Given the description of an element on the screen output the (x, y) to click on. 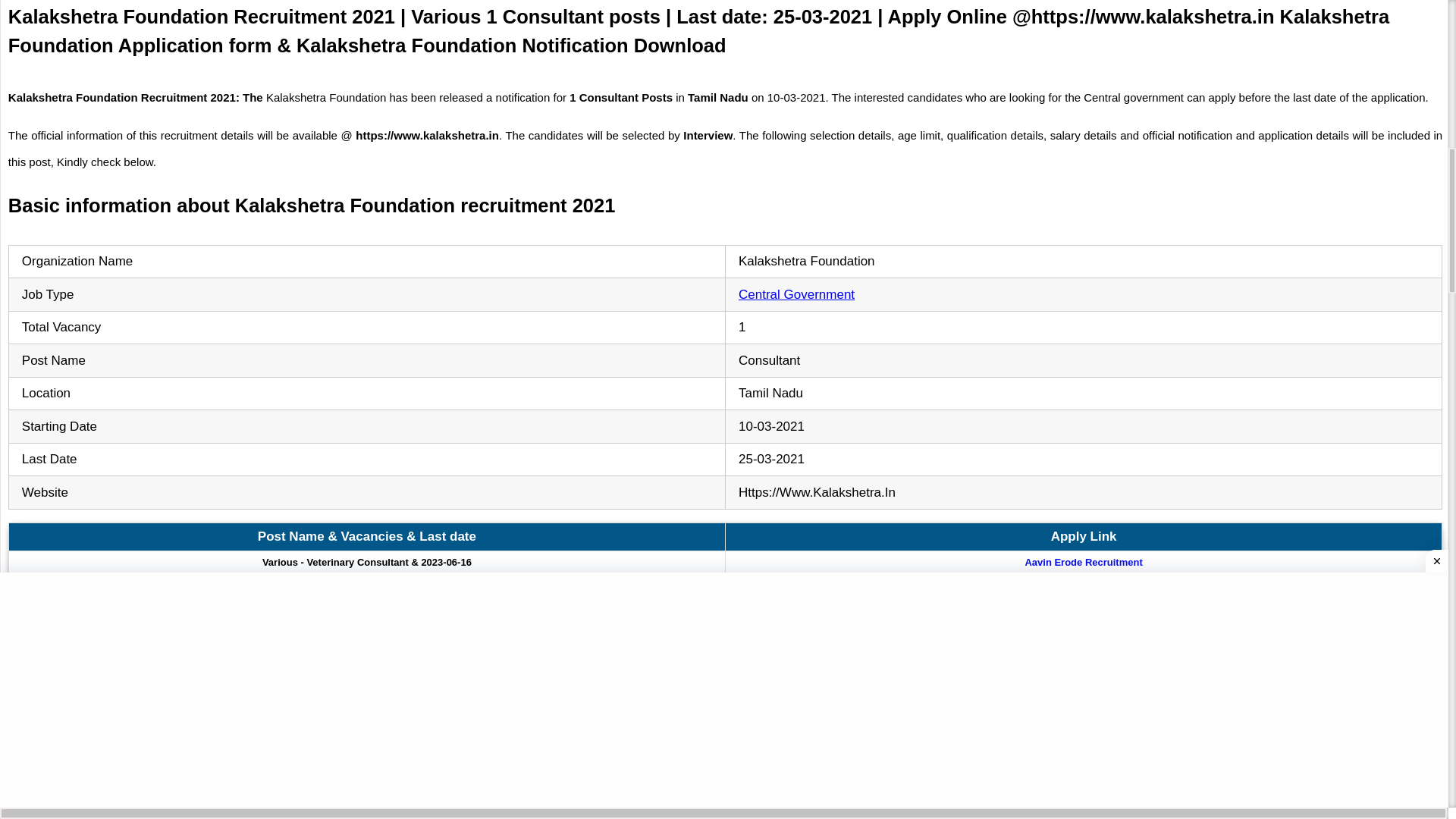
TN TRB Recruitment (1083, 632)
Central Government (796, 294)
Coimbatore District Court LADCS Recruitment (1083, 680)
Aavin Erode Recruitment (1083, 561)
Tiruchirappalli District Court LADCS Recruitment (1083, 704)
Thiruvarur Consumer Disputes Commission Recruitment (1083, 585)
DSWO Theni Recruitment (1082, 655)
